Given the description of an element on the screen output the (x, y) to click on. 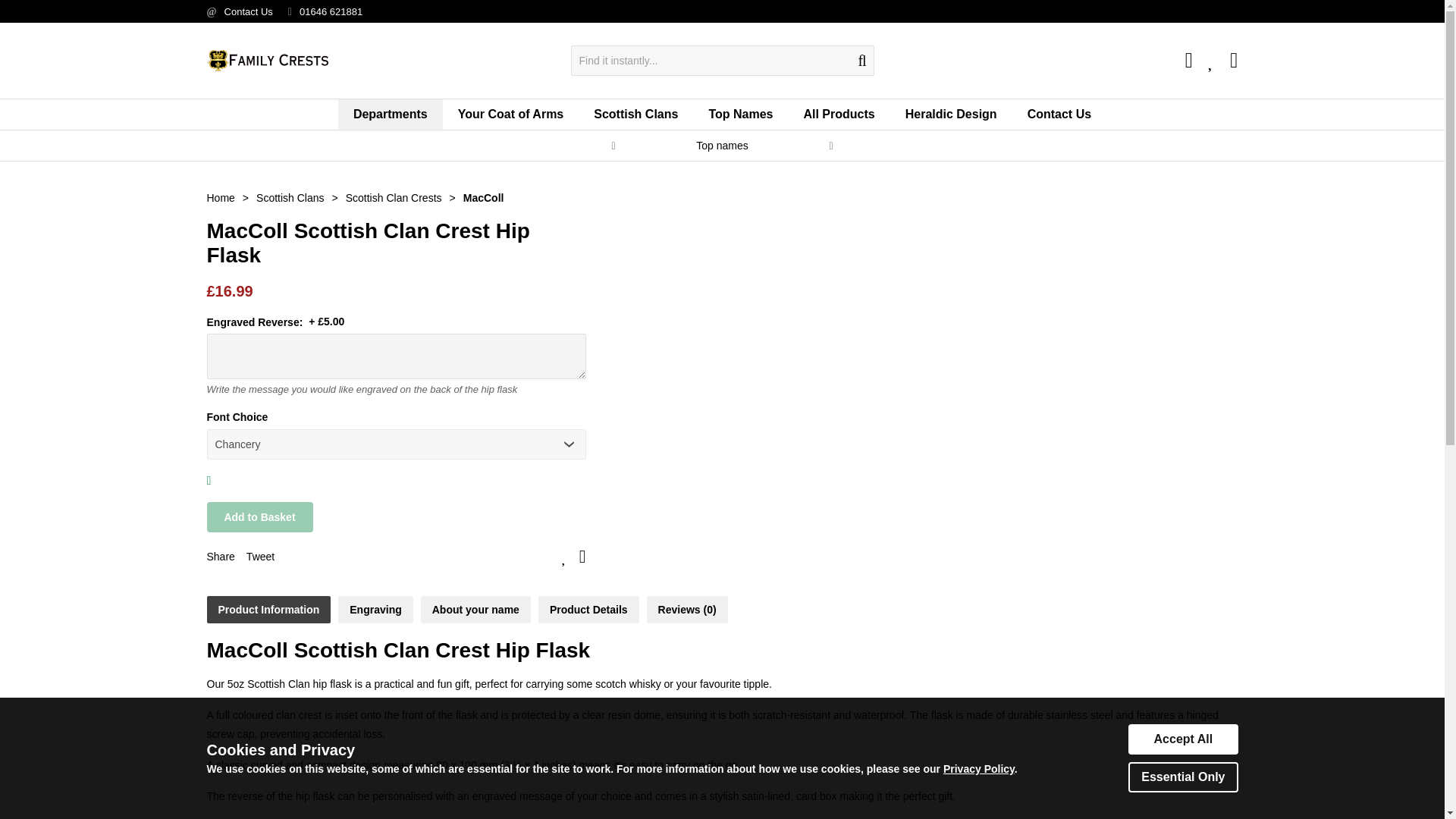
Departments (389, 114)
01646 621881 (330, 11)
Top Names (740, 114)
Contact Us (248, 11)
Scottish Clans (635, 114)
Your Coat of Arms (510, 114)
